Given the description of an element on the screen output the (x, y) to click on. 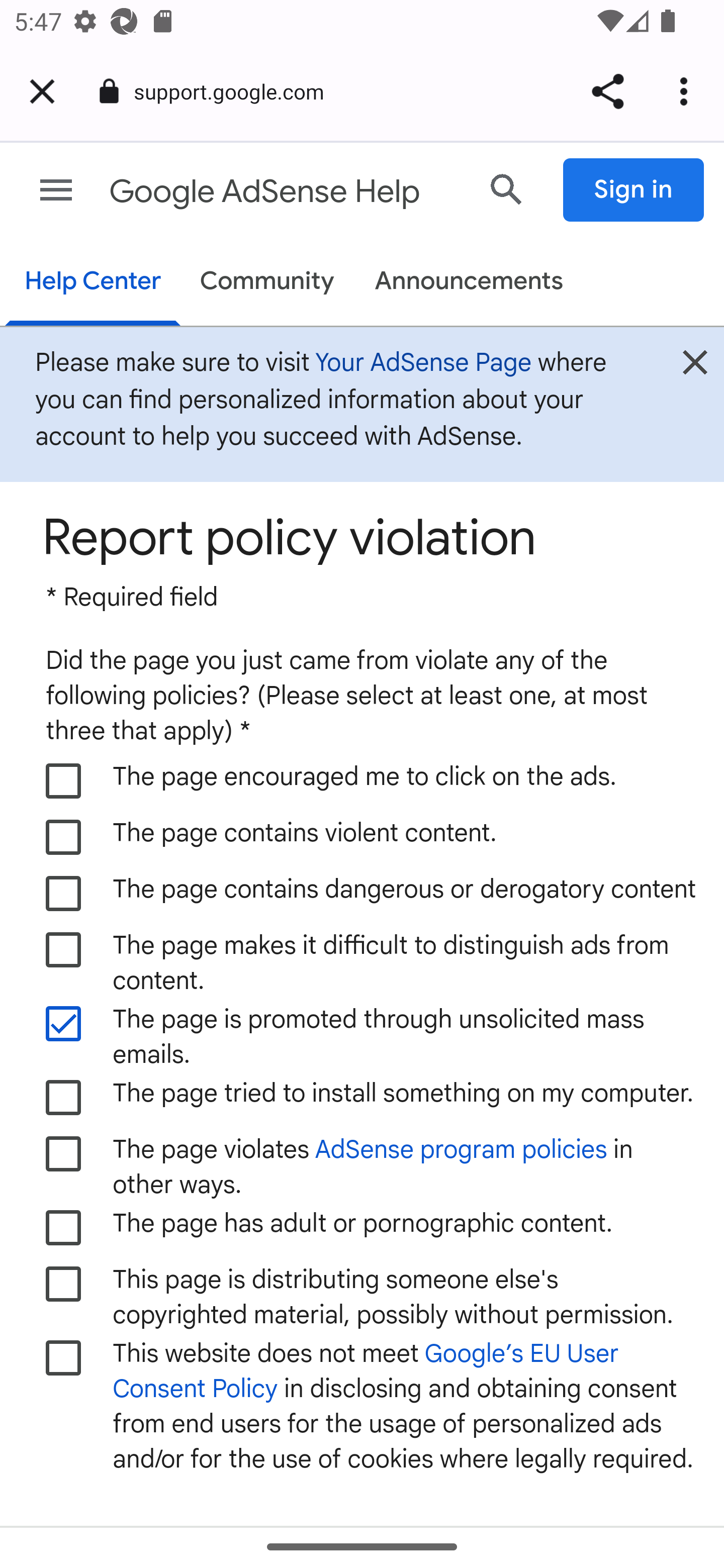
Close tab (42, 91)
Share (607, 91)
More options (687, 91)
Connection is secure (108, 91)
support.google.com (235, 90)
Main menu (56, 190)
Google AdSense Help (285, 191)
Search Help Center (506, 189)
Sign in (634, 190)
Help Center (92, 283)
Community (267, 281)
Announcements (468, 281)
Close (694, 367)
Your AdSense Page (422, 362)
The page encouraged me to click on the ads. (63, 781)
The page contains violent content. (63, 838)
The page contains dangerous or derogatory content (63, 894)
The page has adult or pornographic content. (63, 1227)
